Given the description of an element on the screen output the (x, y) to click on. 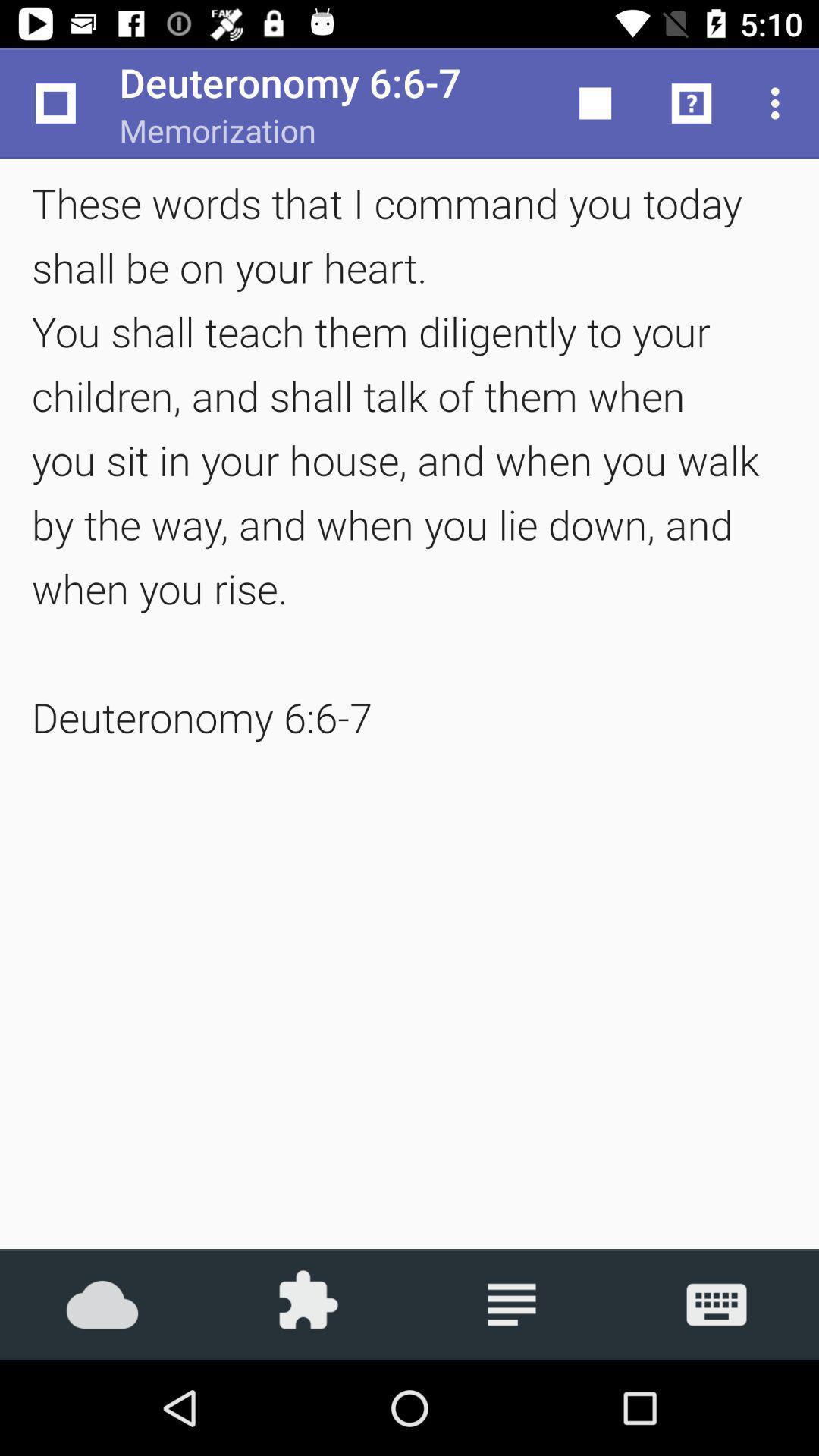
click icon to the left of the memorization (55, 103)
